Given the description of an element on the screen output the (x, y) to click on. 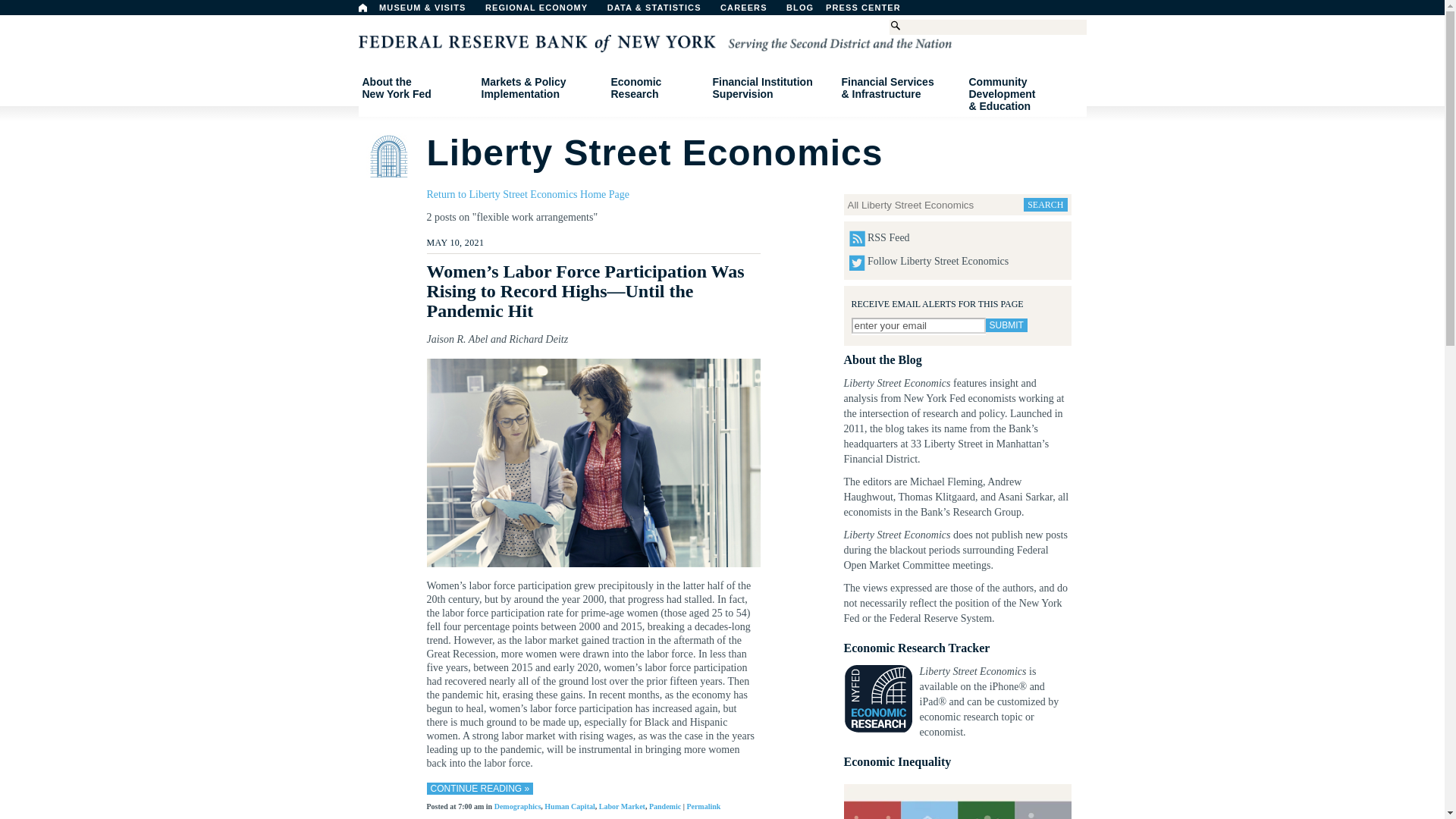
BLOG (839, 11)
REGIONAL ECONOMY (543, 11)
CAREERS (751, 11)
PRESS CENTER (415, 87)
Home (870, 11)
Submit (362, 8)
enter your email (1006, 325)
